Given the description of an element on the screen output the (x, y) to click on. 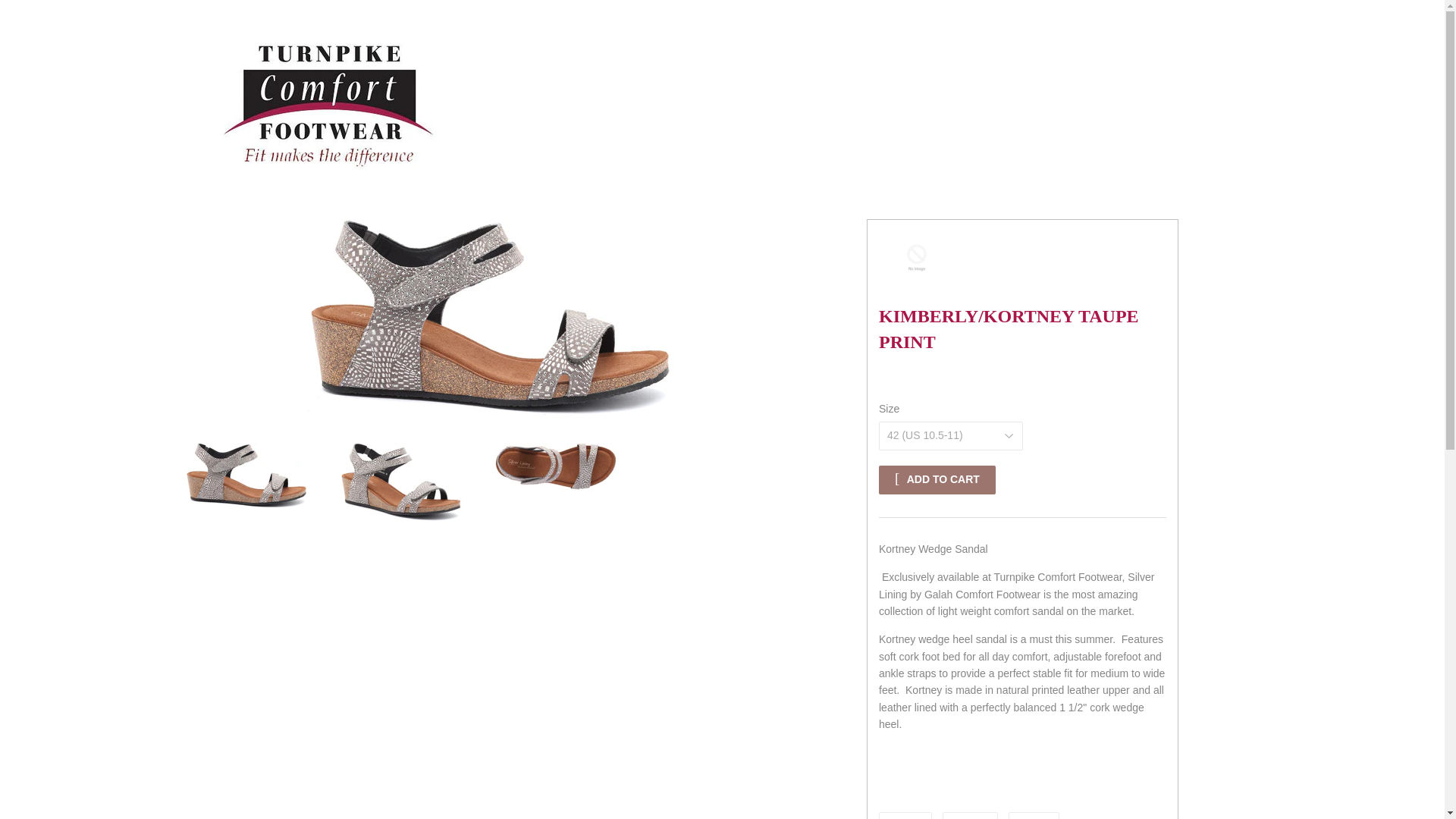
Tweet on Twitter (970, 815)
ADD TO CART (1033, 815)
Share on Facebook (905, 815)
Pin on Pinterest (970, 815)
